Given the description of an element on the screen output the (x, y) to click on. 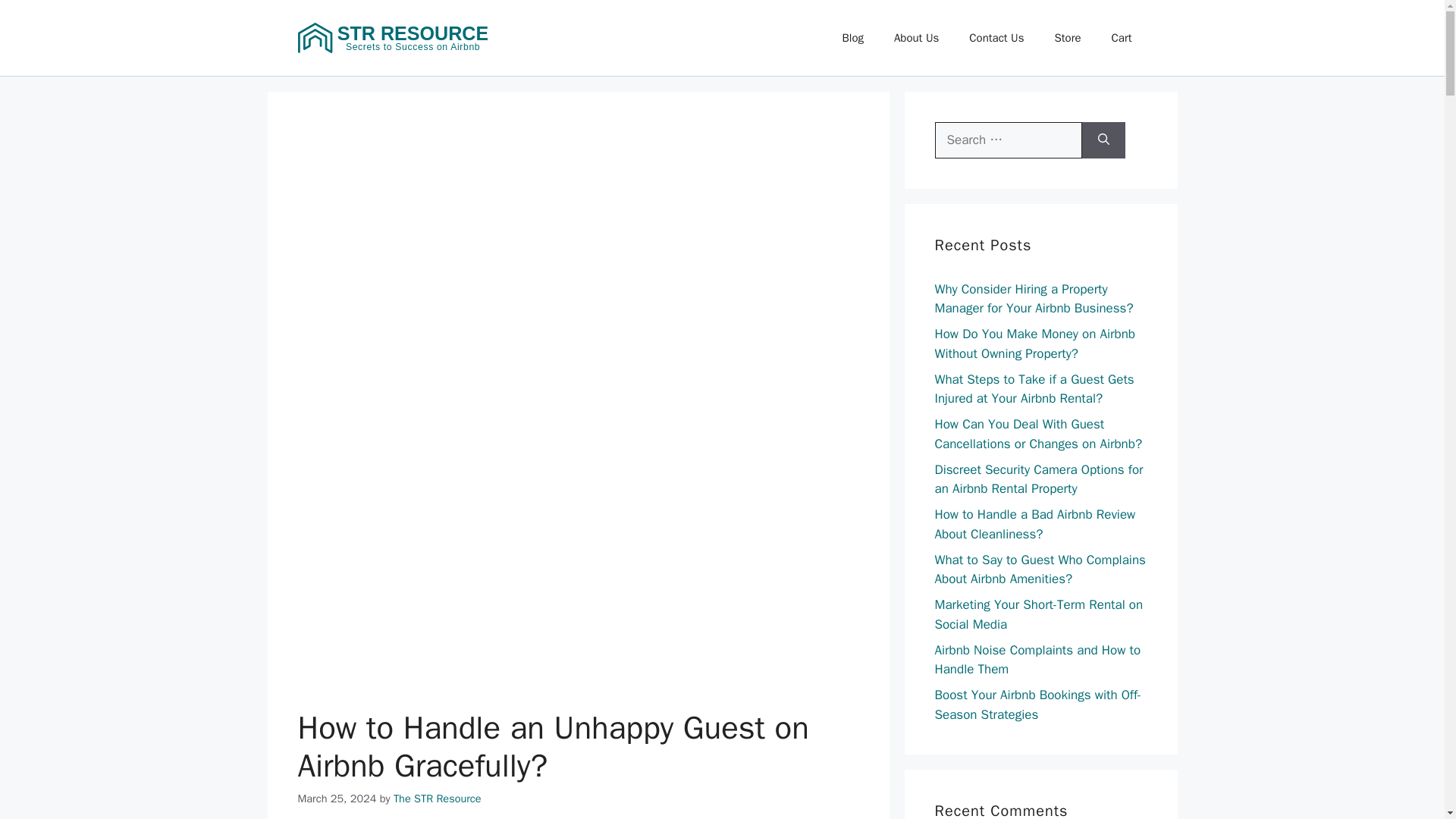
View all posts by The STR Resource (437, 798)
The STR Resource (437, 798)
How to Handle a Bad Airbnb Review About Cleanliness? (1034, 524)
What to Say to Guest Who Complains About Airbnb Amenities? (1039, 570)
How Do You Make Money on Airbnb Without Owning Property? (1034, 343)
Marketing Your Short-Term Rental on Social Media (1038, 614)
Airbnb Noise Complaints and How to Handle Them (1037, 659)
About Us (916, 37)
